Given the description of an element on the screen output the (x, y) to click on. 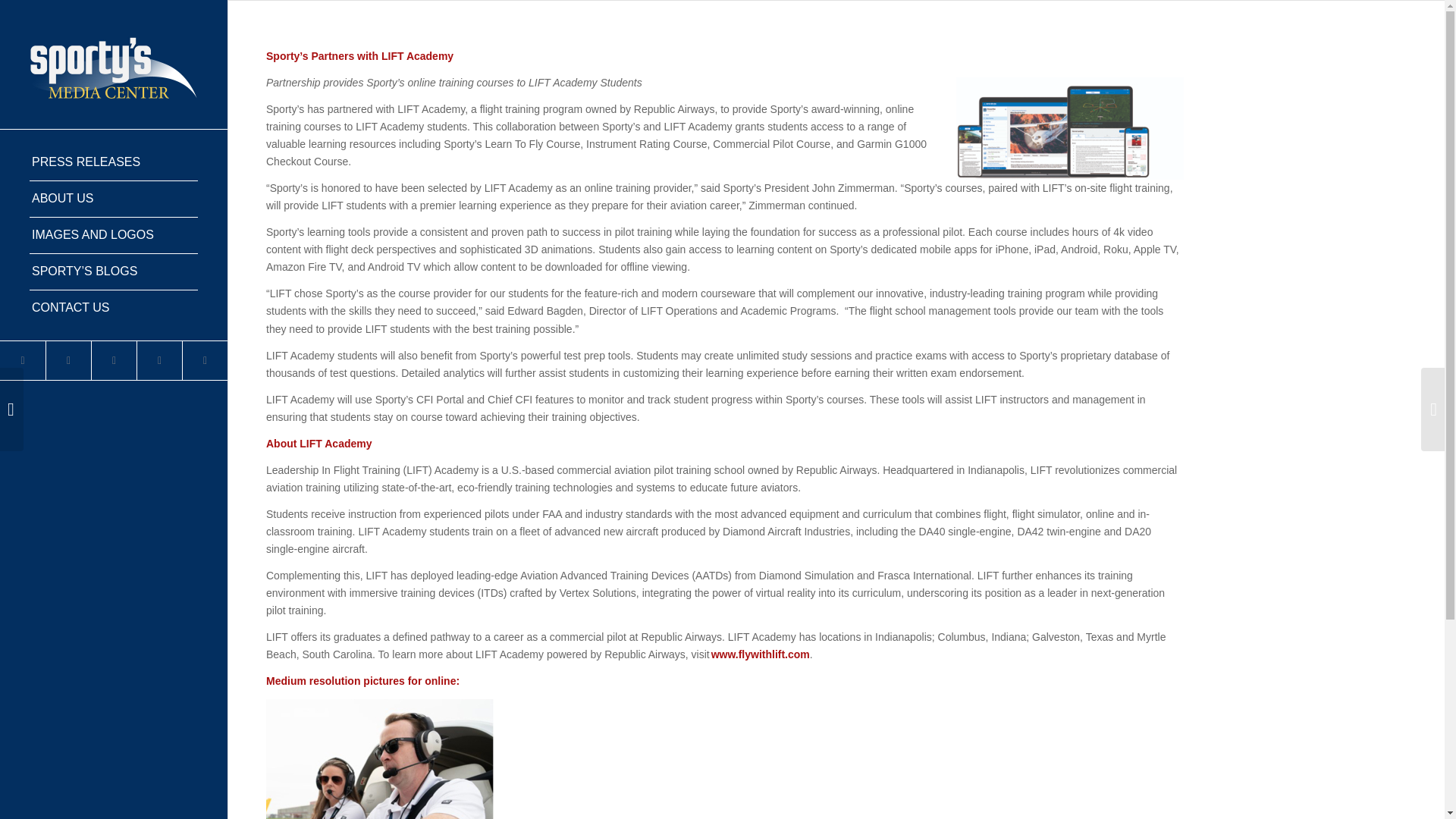
Twitter (22, 360)
CONTACT US (113, 307)
Youtube (113, 360)
Facebook (67, 360)
mediacenterlogo (113, 64)
Instagram (204, 360)
PRESS RELEASES (113, 162)
www.flywithlift.com (760, 654)
ABOUT US (113, 198)
IMAGES AND LOGOS (113, 235)
Pinterest (159, 360)
